Given the description of an element on the screen output the (x, y) to click on. 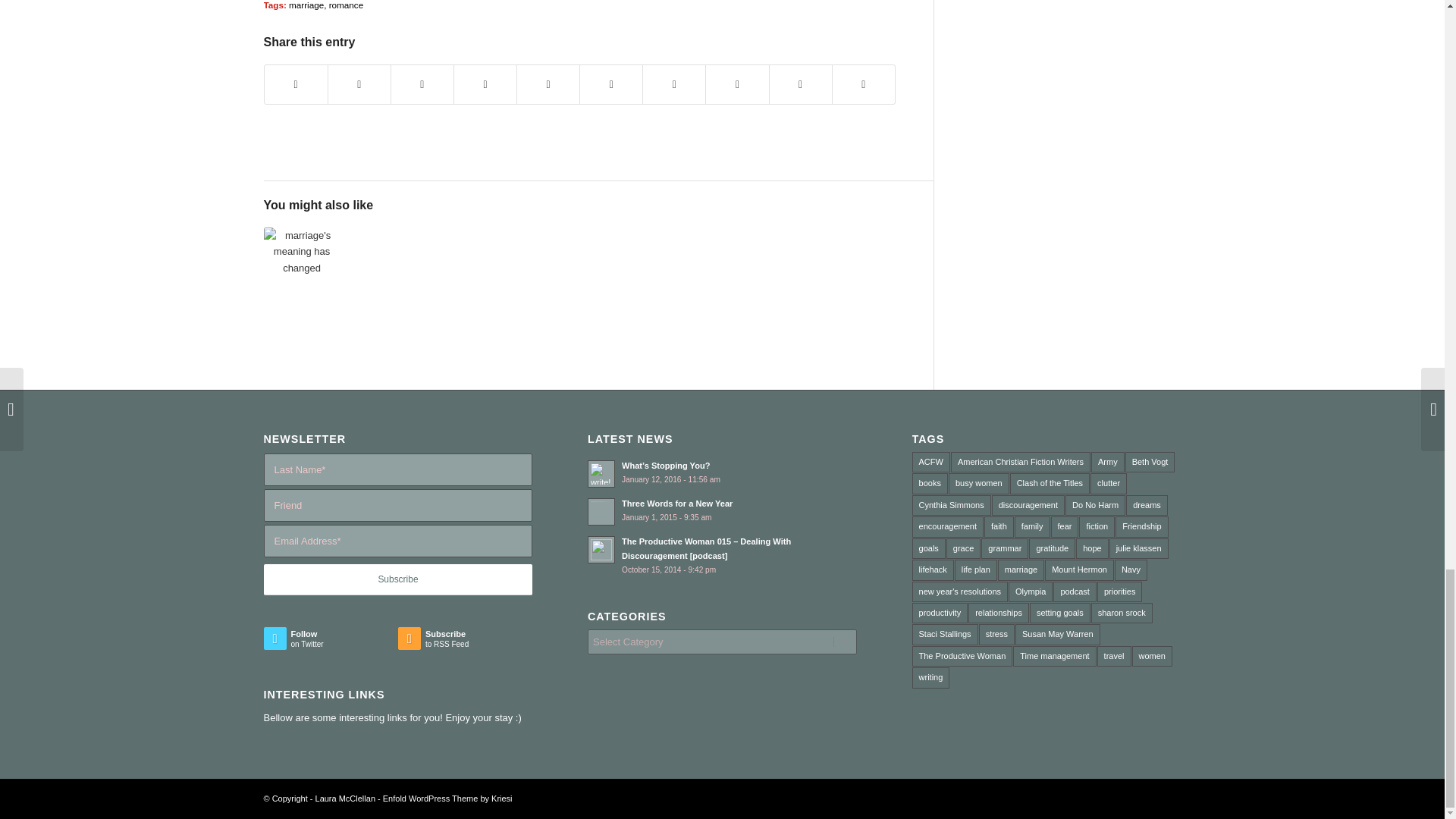
marriage (305, 4)
Subscribe (397, 579)
Friend (397, 504)
romance (345, 4)
